Given the description of an element on the screen output the (x, y) to click on. 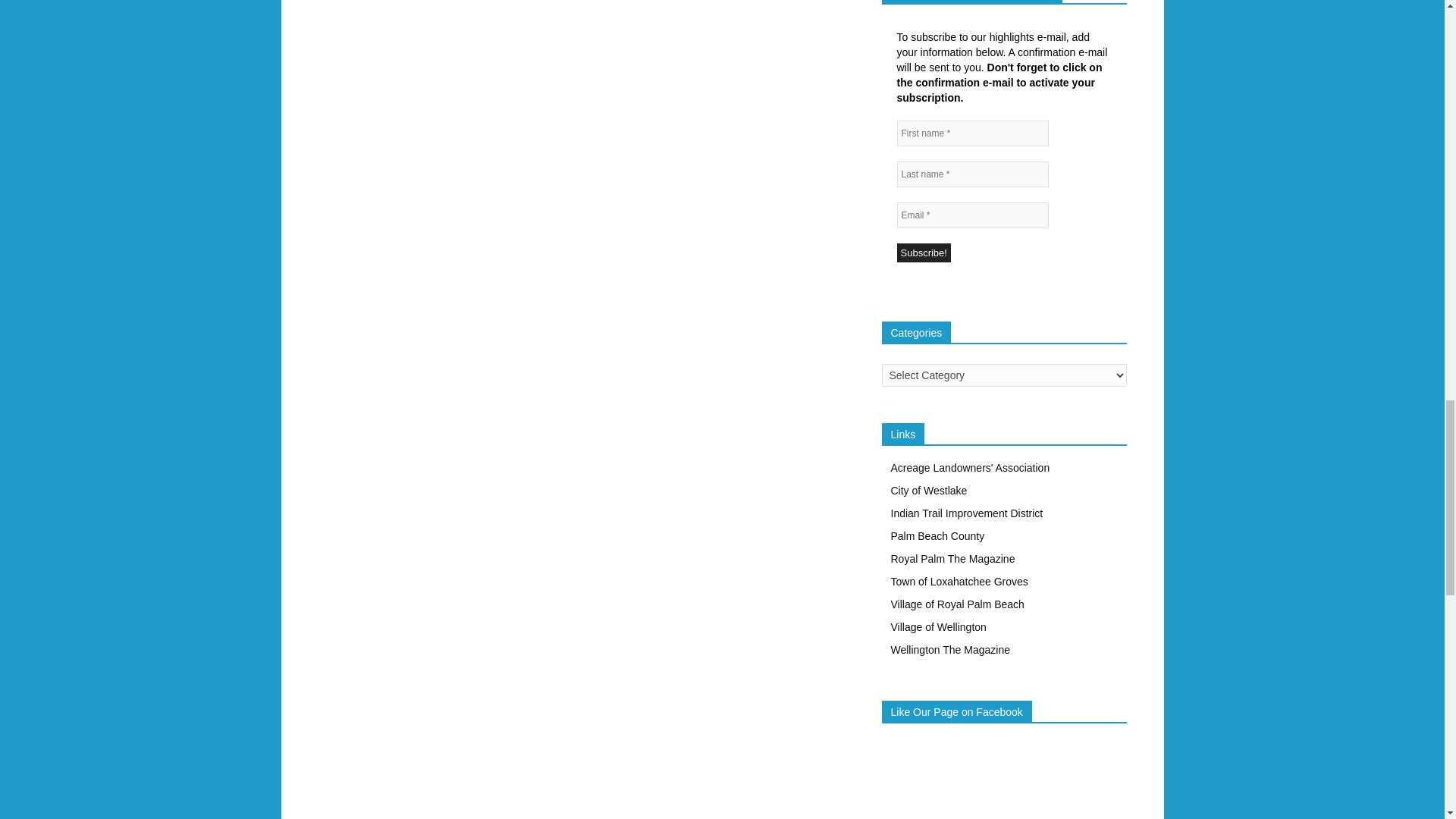
Subscribe! (923, 252)
